Given the description of an element on the screen output the (x, y) to click on. 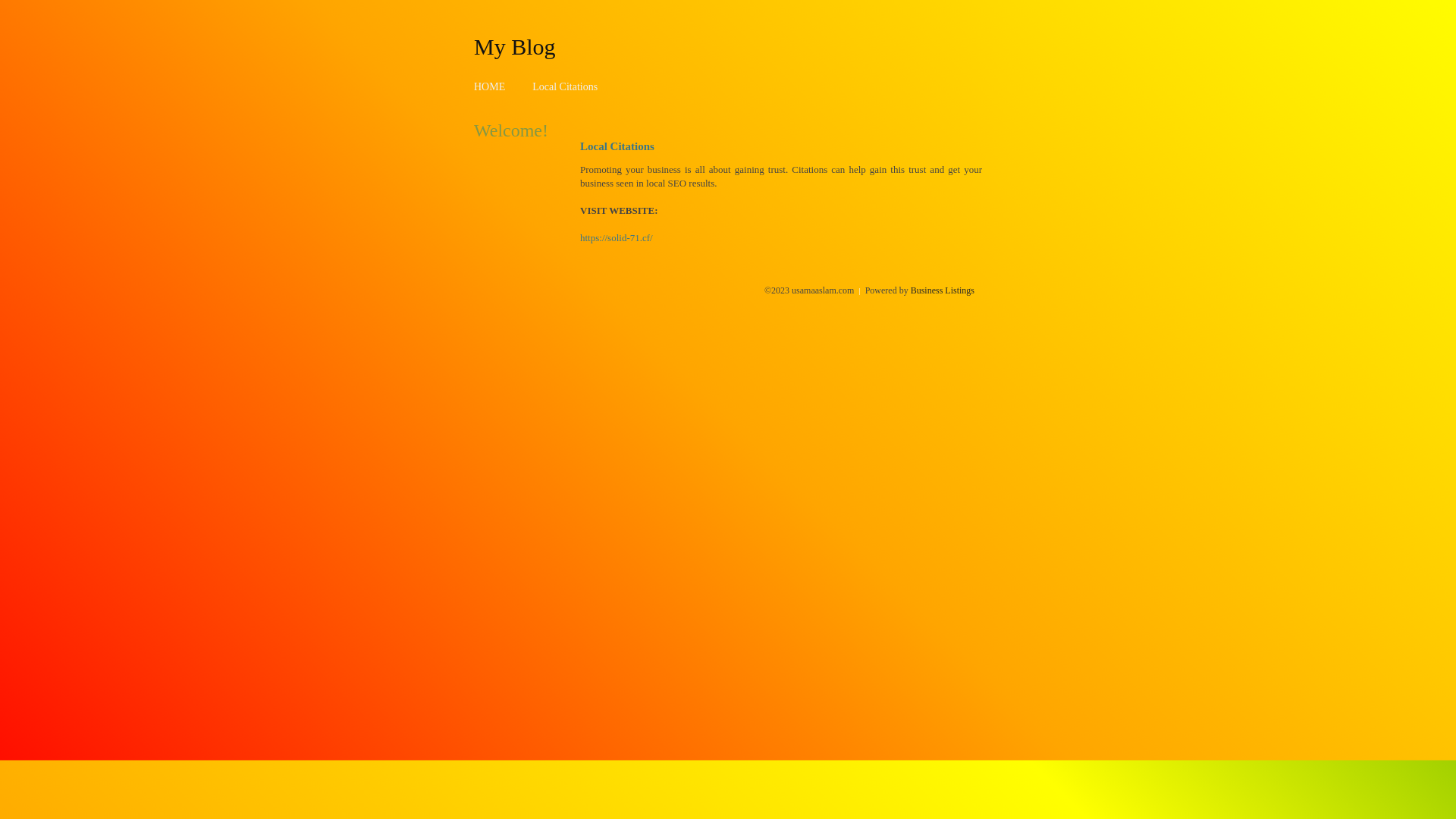
HOME Element type: text (489, 86)
Local Citations Element type: text (564, 86)
My Blog Element type: text (514, 46)
Business Listings Element type: text (942, 290)
https://solid-71.cf/ Element type: text (616, 237)
